Given the description of an element on the screen output the (x, y) to click on. 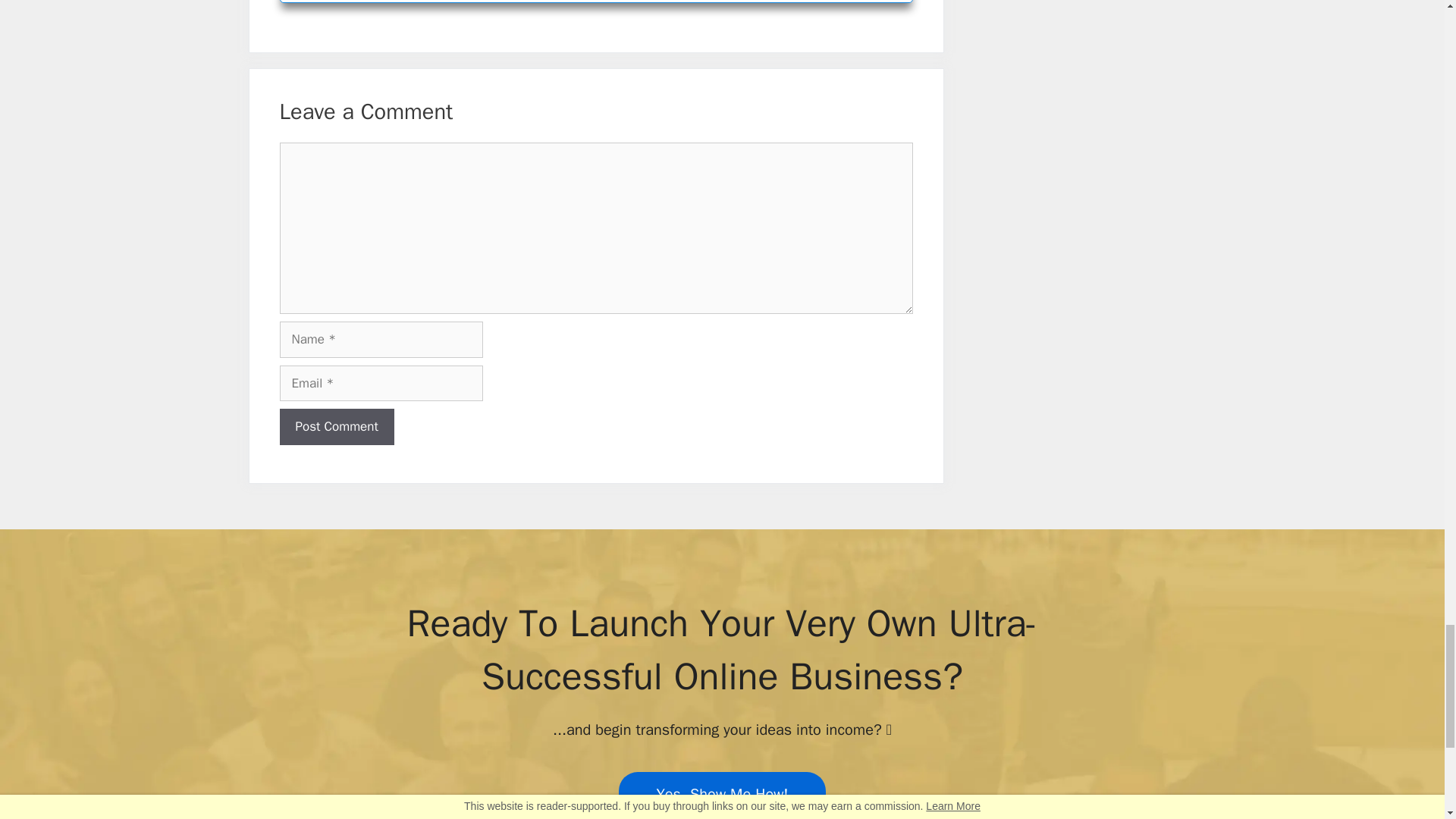
Post Comment (336, 426)
Yes, Show Me How! (722, 794)
Post Comment (336, 426)
